Given the description of an element on the screen output the (x, y) to click on. 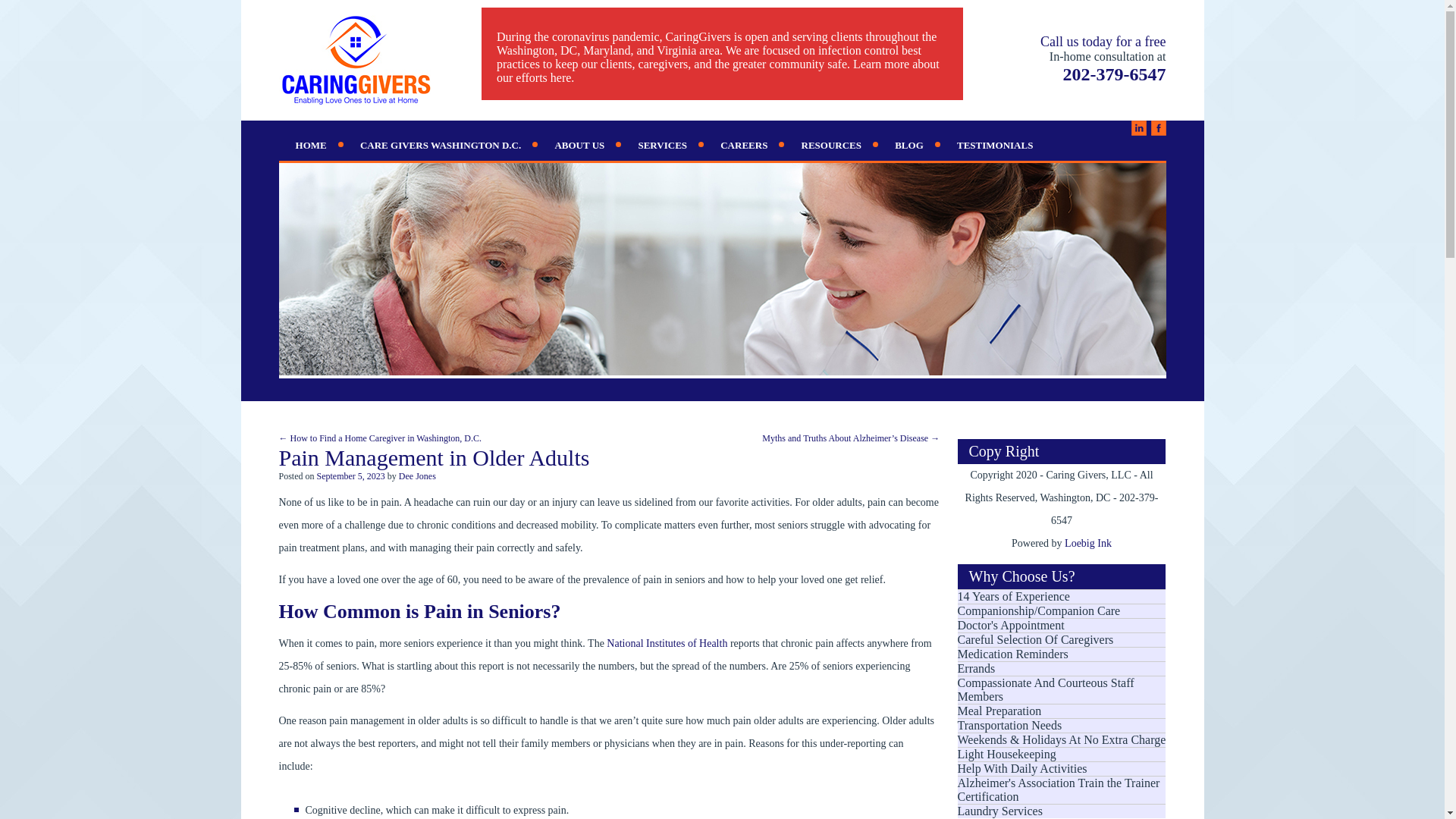
Loebig Ink (1088, 542)
RESOURCES (830, 145)
CAREERS (743, 145)
Dee Jones (416, 475)
National Institutes of Health (666, 643)
ABOUT US (579, 145)
Facebook (1158, 127)
September 5, 2023 (351, 475)
TESTIMONIALS (994, 145)
HOME (311, 145)
10:50 am (351, 475)
Linkedin (1139, 127)
View all posts by Dee Jones (416, 475)
Linkedin (1139, 127)
BLOG (908, 145)
